Given the description of an element on the screen output the (x, y) to click on. 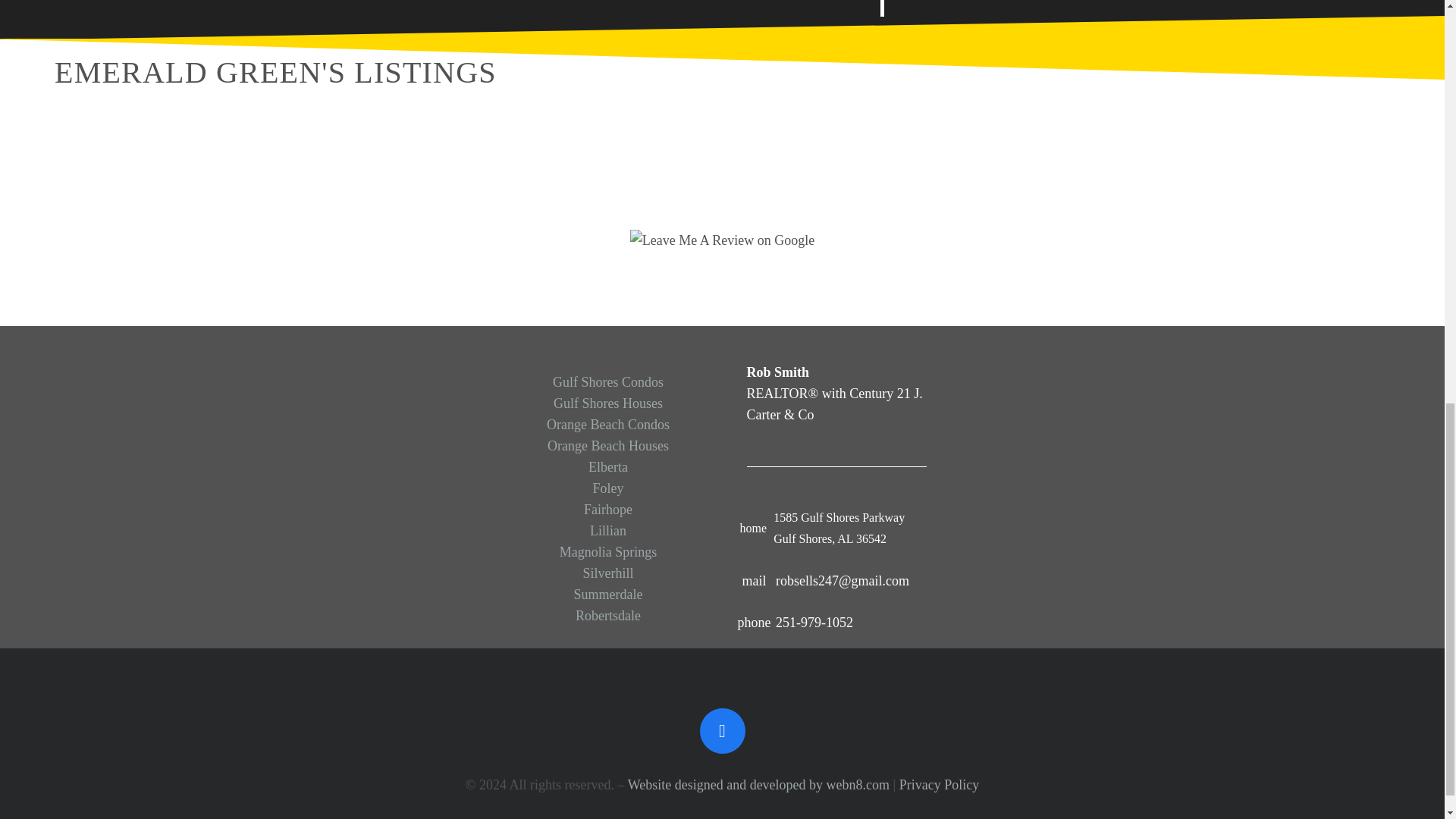
251-979-1052 (814, 621)
251-979-1052 (759, 621)
Leave Me a Review on Google (721, 239)
